Given the description of an element on the screen output the (x, y) to click on. 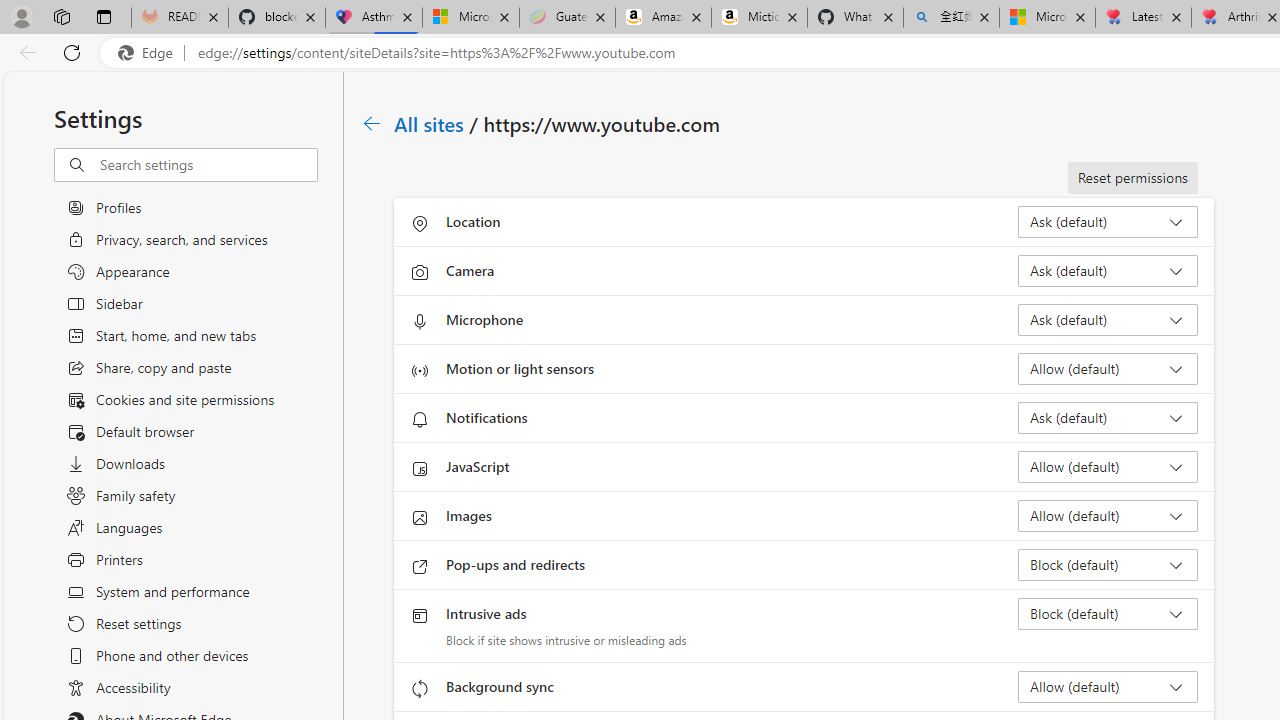
All sites (429, 123)
JavaScript Allow (default) (1107, 466)
Motion or light sensors Allow (default) (1107, 368)
Location Ask (default) (1107, 221)
Camera Ask (default) (1107, 270)
Reset permissions (1132, 177)
Background sync Allow (default) (1107, 686)
Search settings (207, 165)
Microphone Ask (default) (1107, 319)
